Given the description of an element on the screen output the (x, y) to click on. 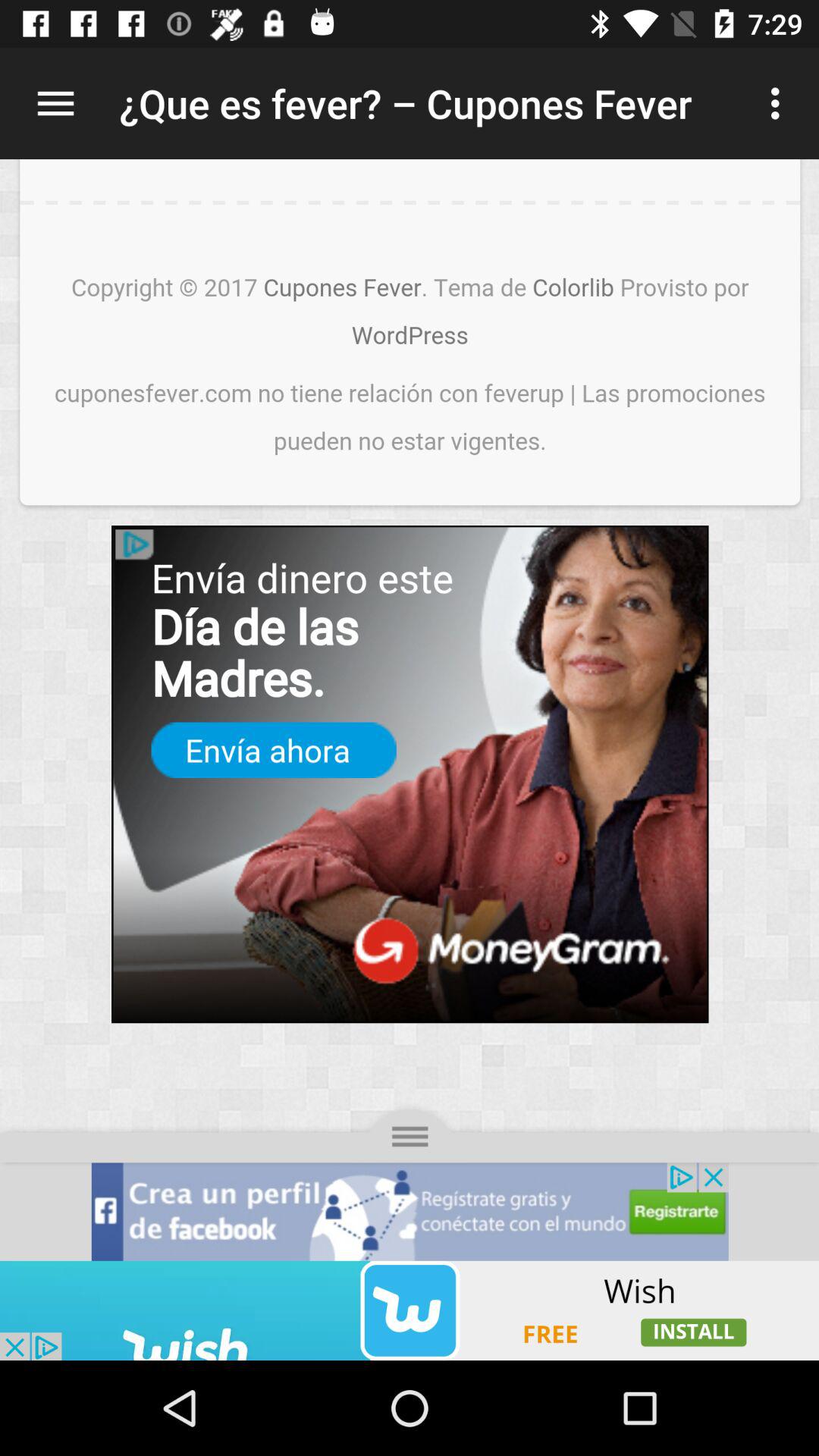
open advertisement (409, 1310)
